Given the description of an element on the screen output the (x, y) to click on. 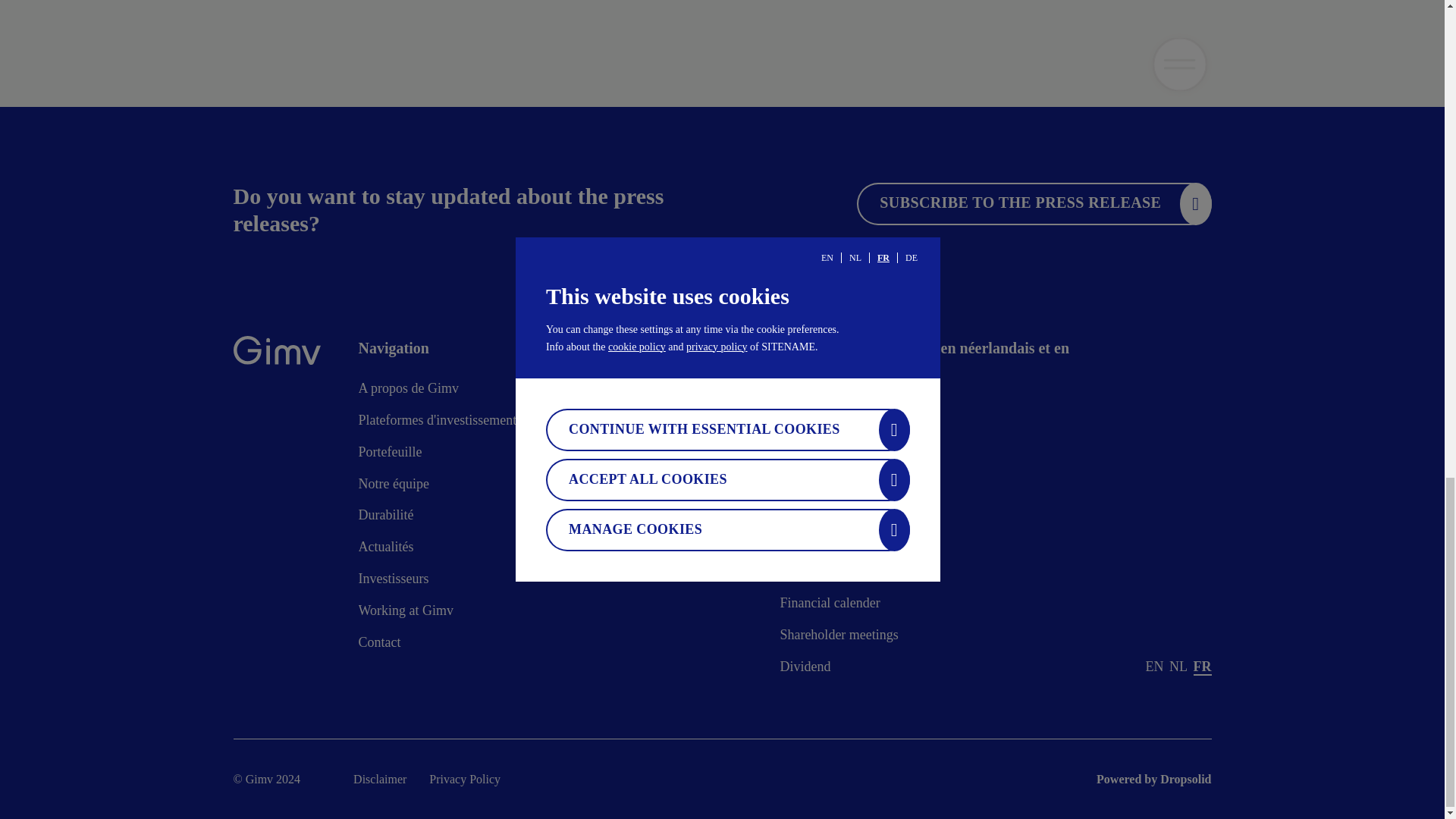
Portefeuille (390, 455)
Plateformes d'investissement (437, 423)
SUBSCRIBE TO THE PRESS RELEASE (1034, 203)
A propos de Gimv (408, 392)
Accueil (276, 353)
